Given the description of an element on the screen output the (x, y) to click on. 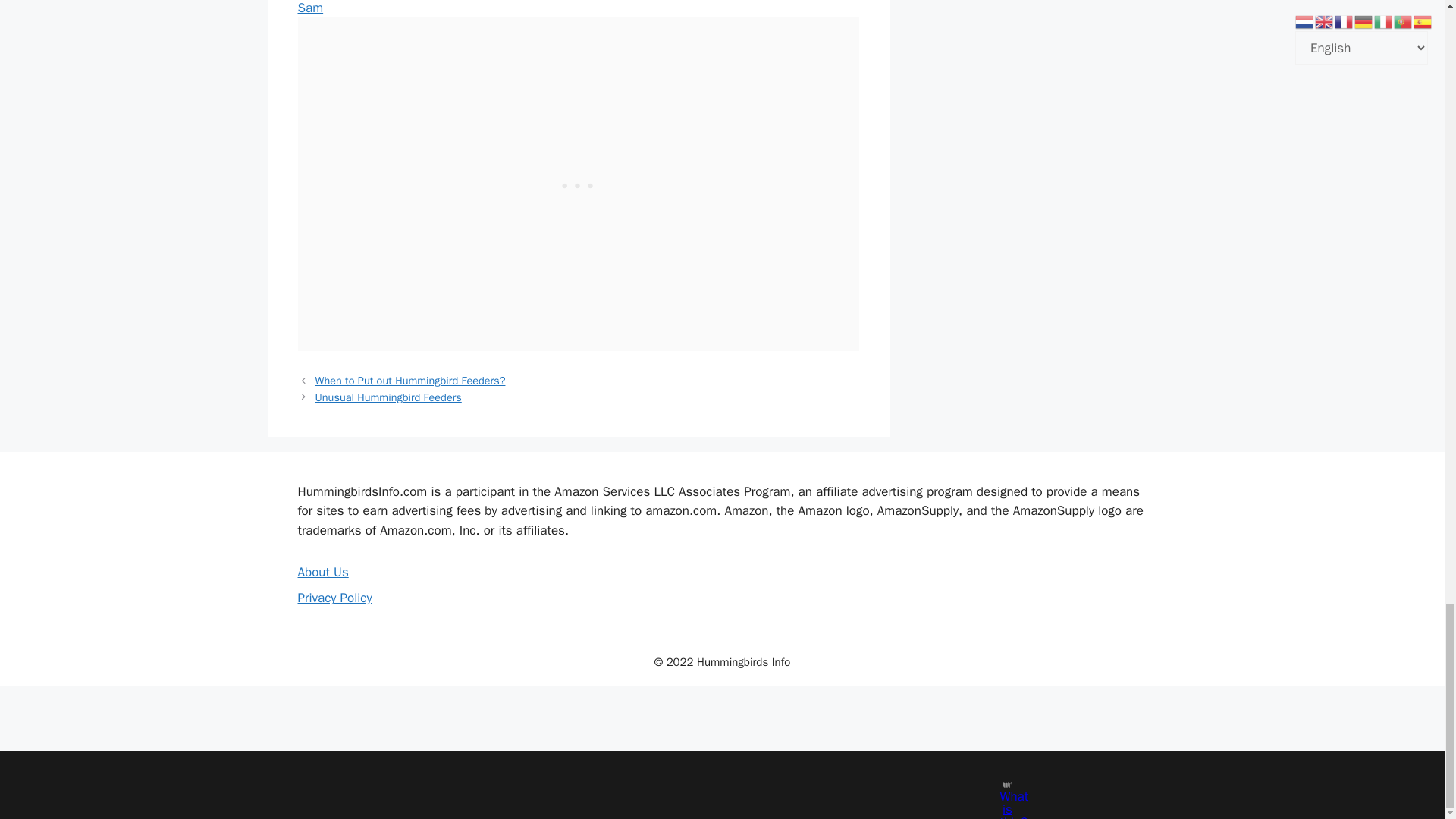
Sam (310, 7)
Unusual Hummingbird Feeders (388, 397)
About Us (322, 571)
Privacy Policy (334, 597)
When to Put out Hummingbird Feeders? (410, 380)
